Given the description of an element on the screen output the (x, y) to click on. 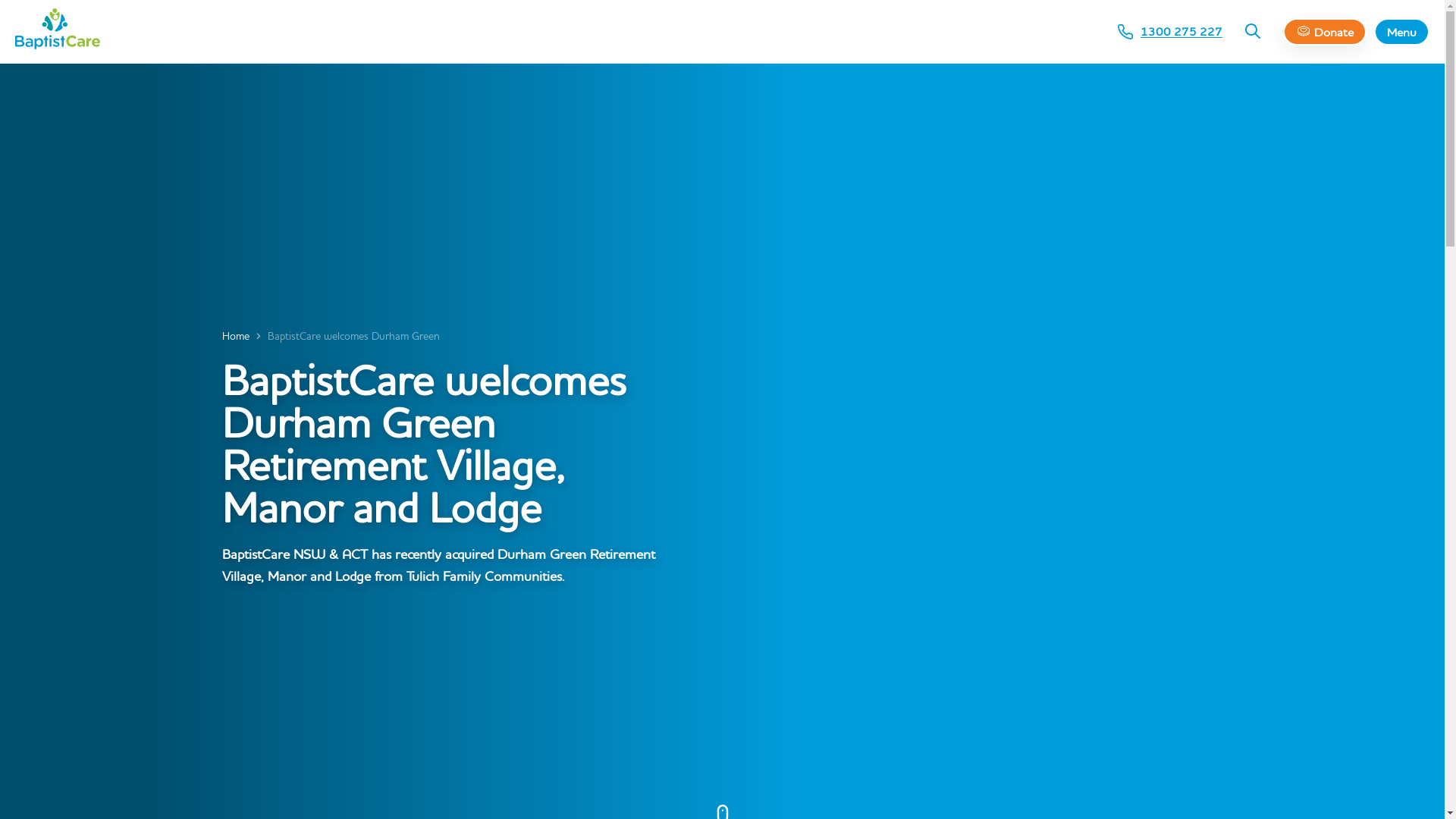
BaptistCare welcomes Durham Green Element type: text (352, 335)
Donate Element type: text (1324, 31)
Home Element type: text (234, 335)
Menu Element type: text (1401, 31)
1300 275 227 Element type: text (1169, 31)
